Given the description of an element on the screen output the (x, y) to click on. 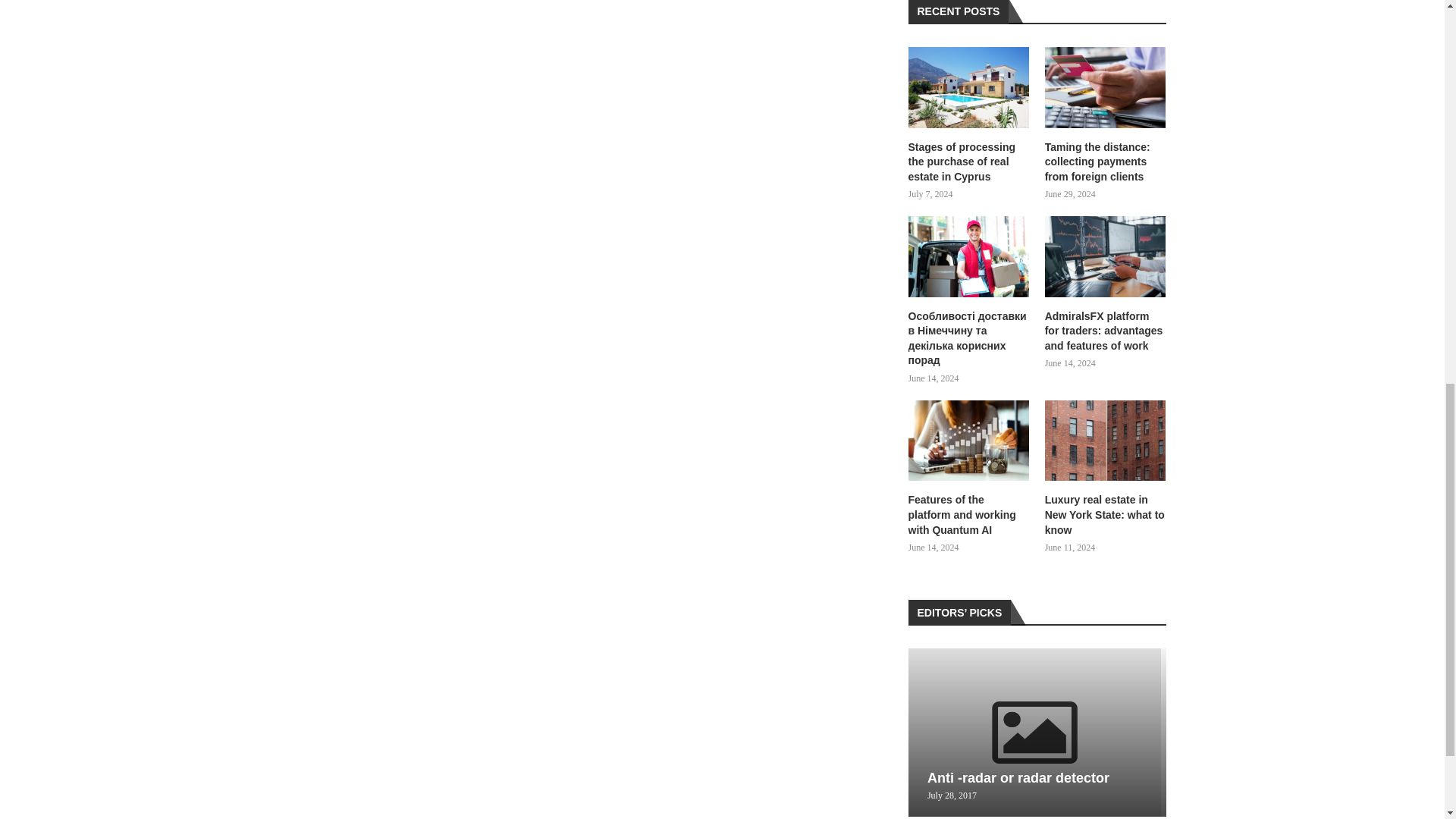
Stages of processing the purchase of real estate in Cyprus (968, 86)
Features of the platform and working with Quantum AI (968, 515)
Stages of processing the purchase of real estate in Cyprus (968, 161)
Luxury real estate in New York State: what to know (1105, 515)
Luxury real estate in New York State: what to know (1105, 440)
Features of the platform and working with Quantum AI (968, 440)
